Given the description of an element on the screen output the (x, y) to click on. 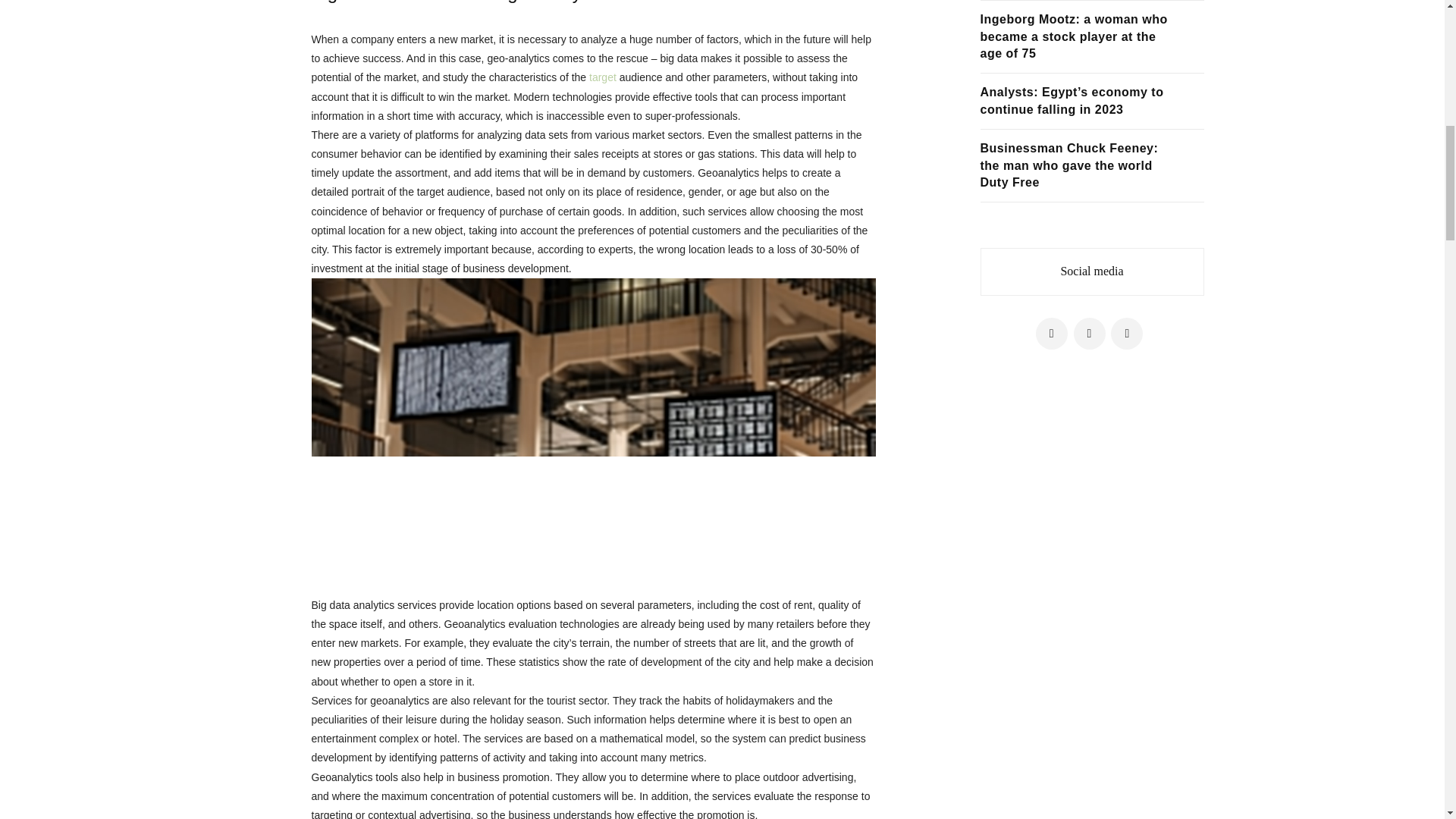
target (602, 77)
